Given the description of an element on the screen output the (x, y) to click on. 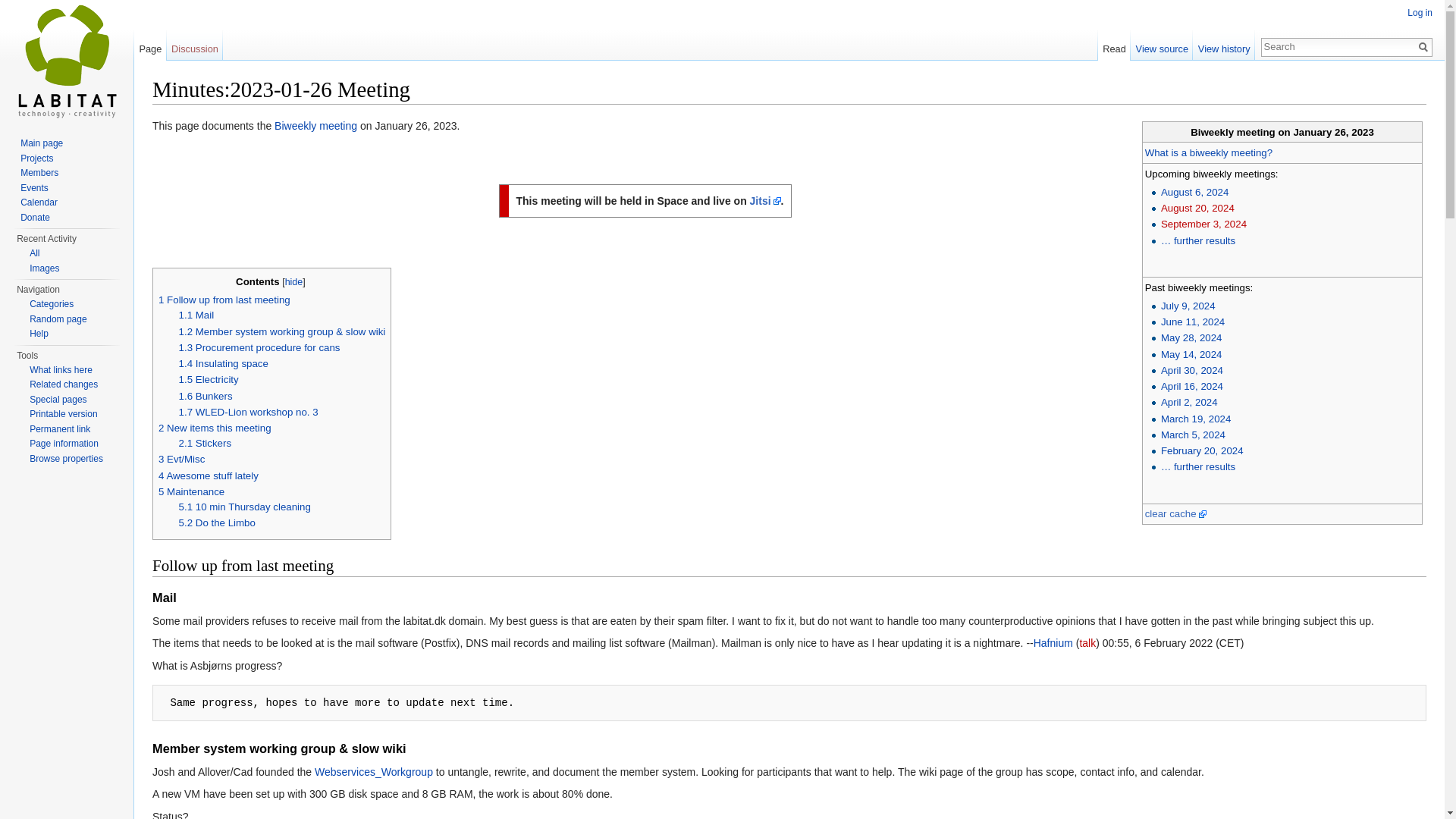
Biweekly meeting (315, 125)
June 11, 2024 (1192, 321)
Minutes:2024-05-14 Meeting (1191, 354)
2.1 Stickers (205, 442)
Go (1423, 46)
August 20, 2024 (1197, 207)
1.1 Mail (196, 315)
5 Maintenance (191, 491)
1.4 Insulating space (223, 363)
2 New items this meeting (214, 428)
1.5 Electricity (208, 378)
May 14, 2024 (1191, 354)
1.6 Bunkers (205, 396)
4 Awesome stuff lately (208, 475)
Minutes:2024-04-16 Meeting (1191, 386)
